Given the description of an element on the screen output the (x, y) to click on. 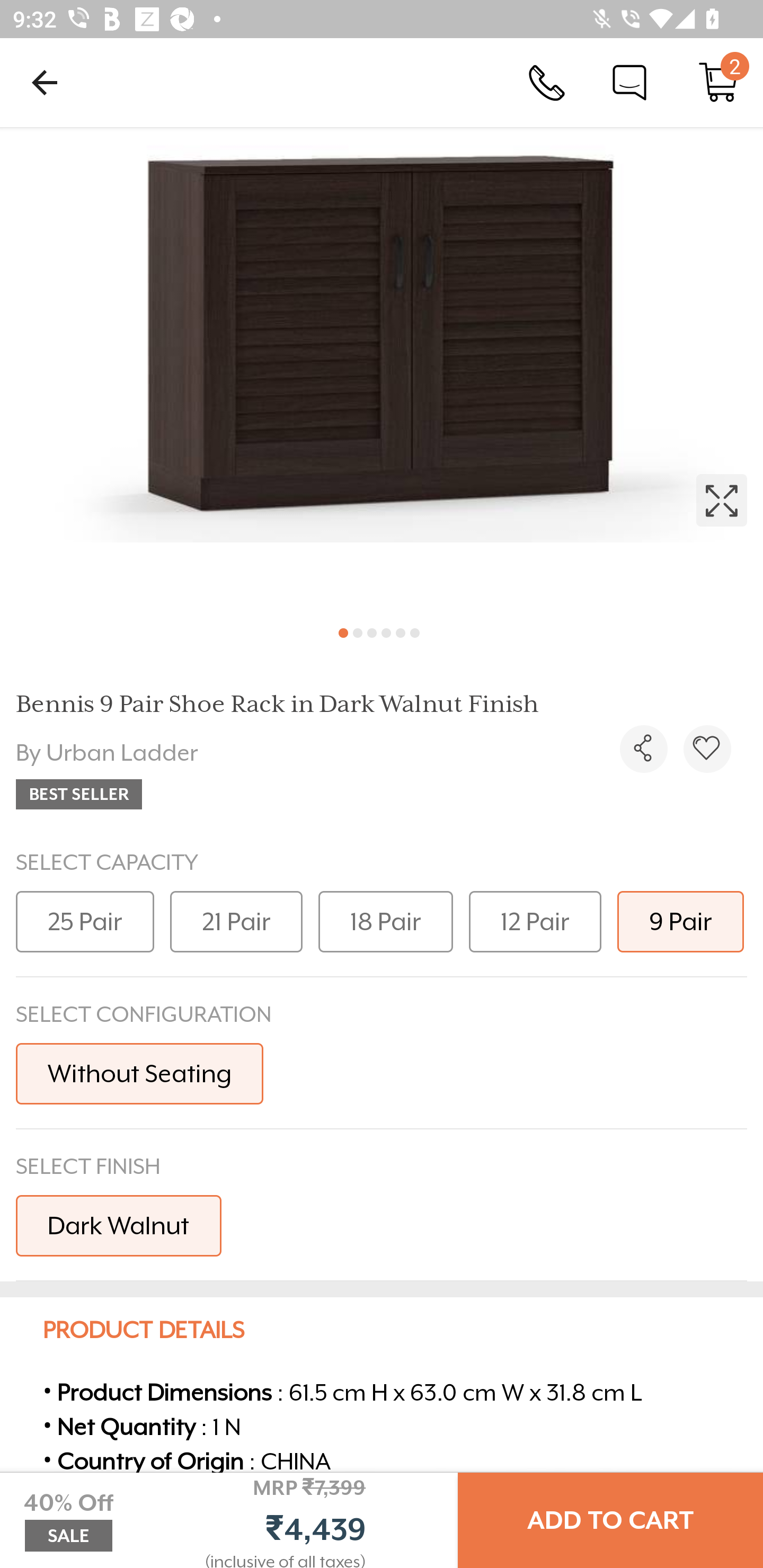
Navigate up (44, 82)
Call Us (546, 81)
Chat (629, 81)
Cart (718, 81)
 (381, 370)
 (643, 748)
 (706, 748)
25 Pair (85, 920)
21 Pair (236, 920)
18 Pair (385, 920)
12 Pair (535, 920)
9 Pair (680, 920)
Without Seating (139, 1072)
Dark Walnut (118, 1224)
ADD TO CART (610, 1520)
